Given the description of an element on the screen output the (x, y) to click on. 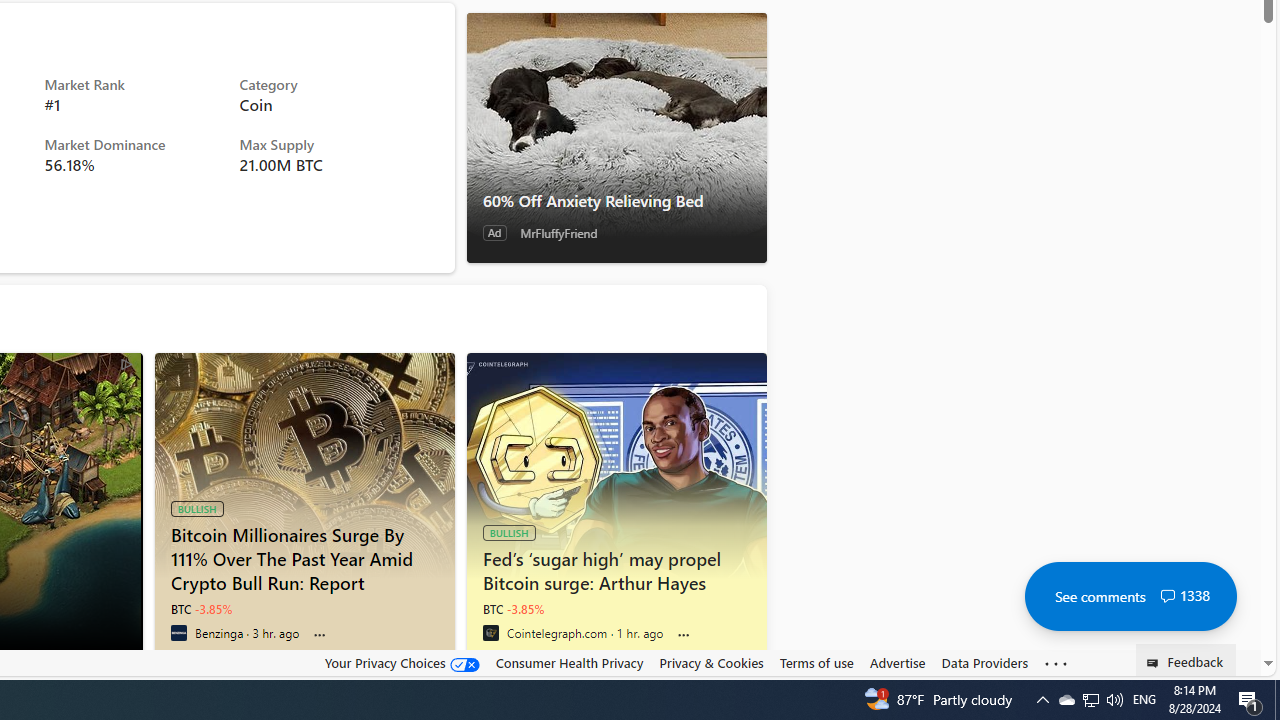
Class: feedback_link_icon-DS-EntryPoint1-1 (1156, 663)
Benzinga (178, 632)
Consumer Health Privacy (569, 662)
Terms of use (816, 663)
BTC -3.85% (513, 609)
Privacy & Cookies (711, 662)
AdChoices (126, 363)
60% Off Anxiety Relieving Bed (615, 137)
Advertise (897, 662)
Terms of use (816, 662)
